Given the description of an element on the screen output the (x, y) to click on. 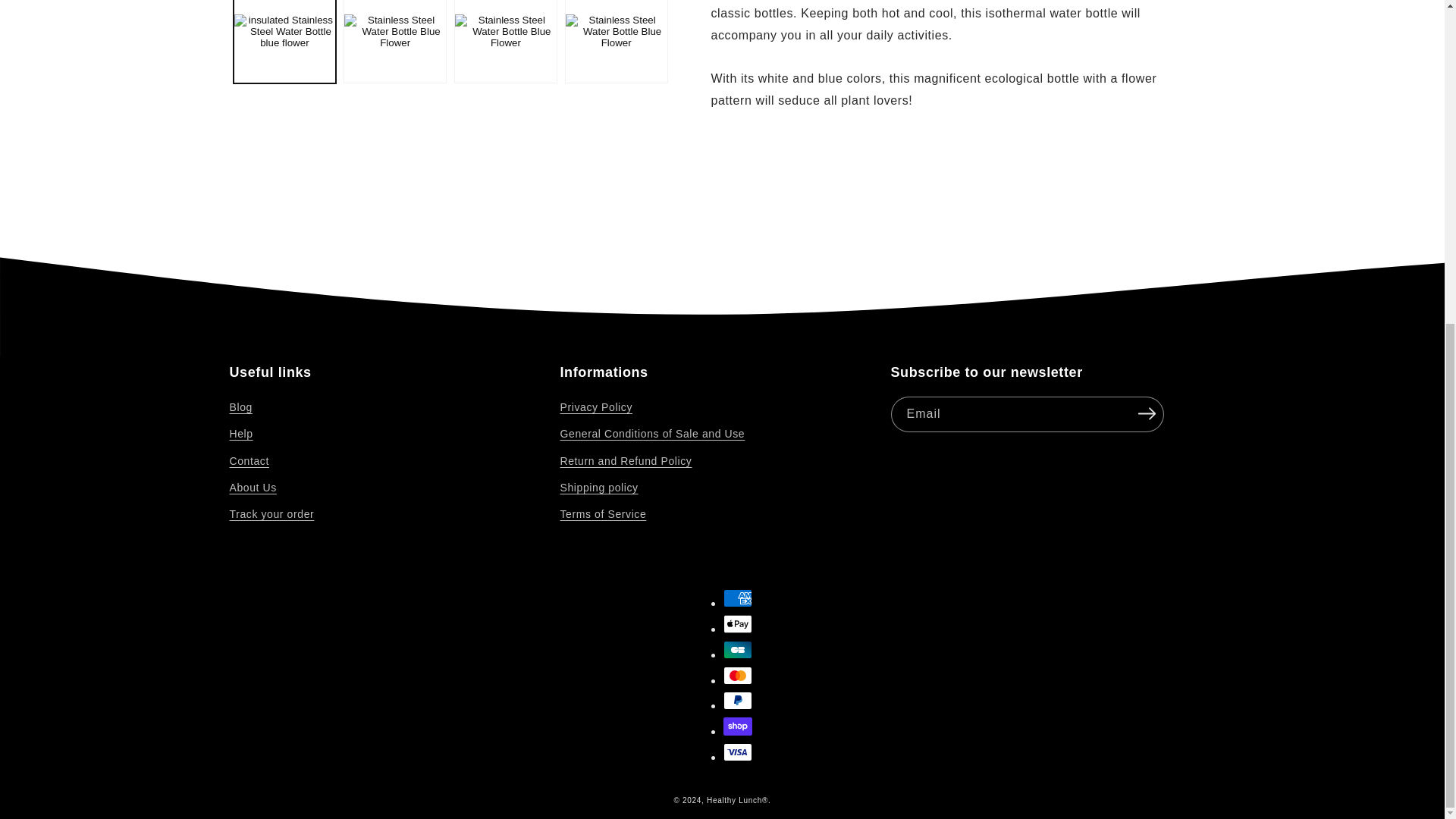
Apple Pay (737, 624)
Cartes Bancaires (737, 649)
American Express (737, 597)
Mastercard (737, 675)
